Given the description of an element on the screen output the (x, y) to click on. 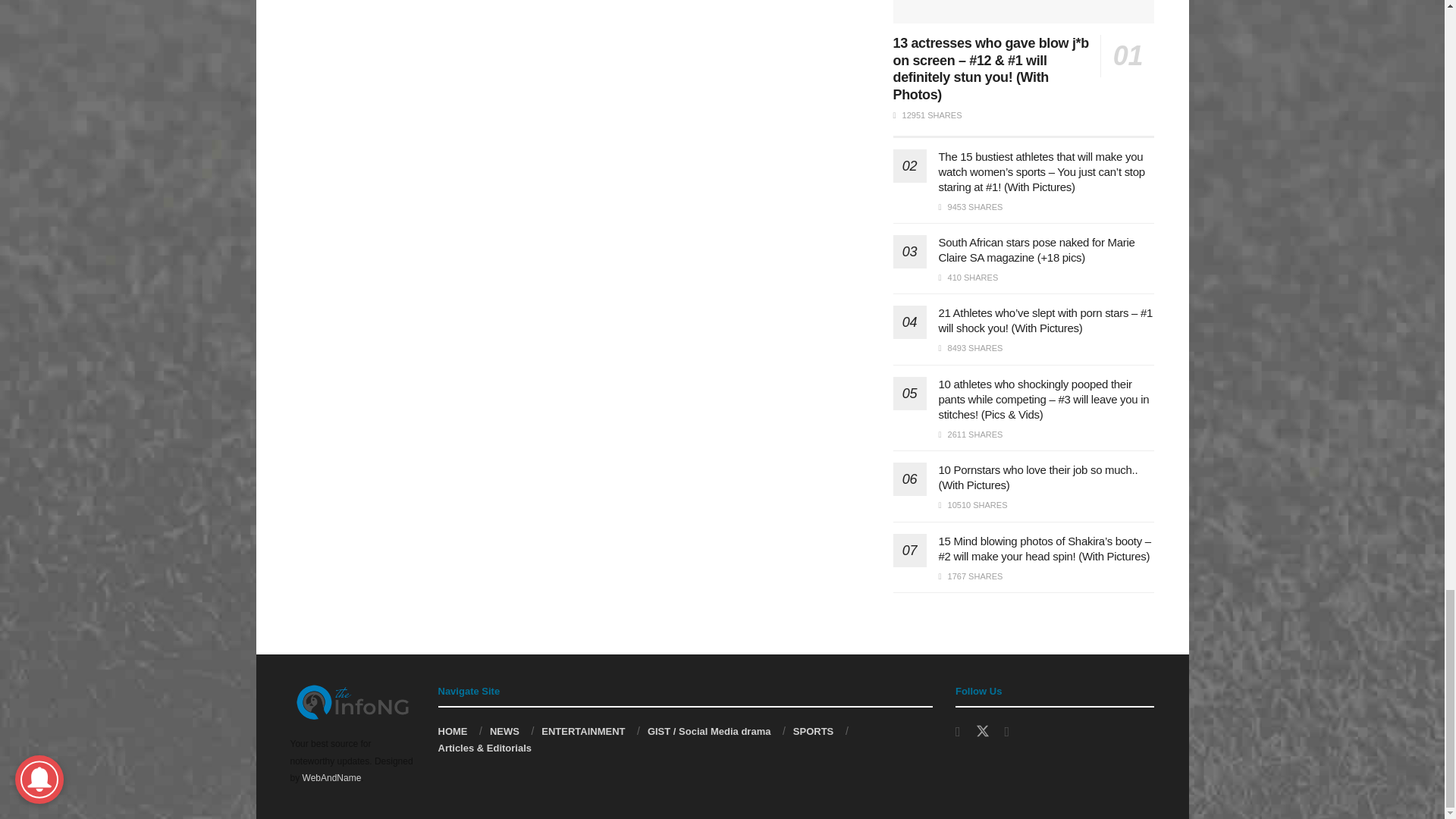
Sport (812, 731)
WebAndName (331, 777)
